Given the description of an element on the screen output the (x, y) to click on. 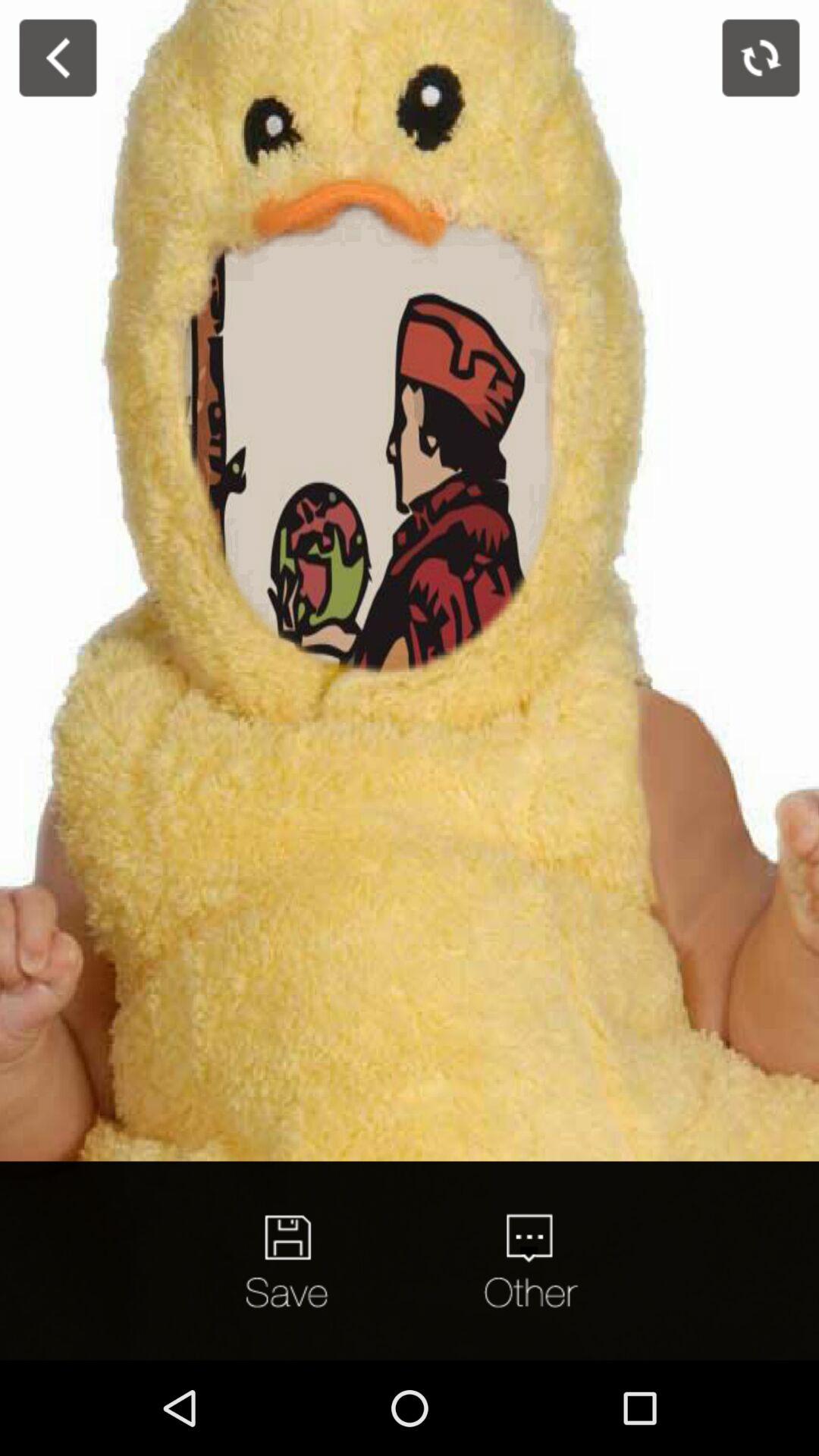
save picture (289, 1260)
